Given the description of an element on the screen output the (x, y) to click on. 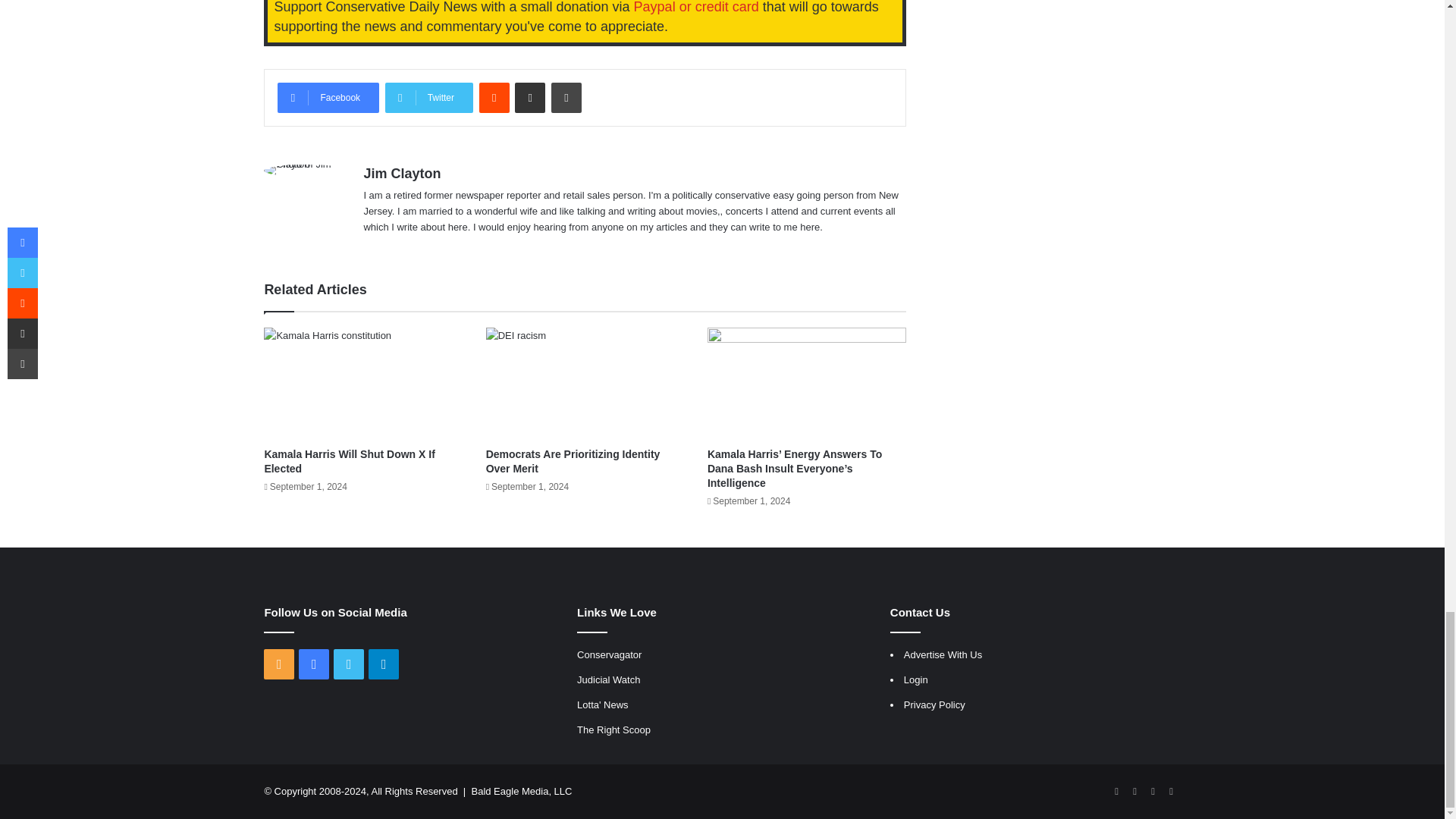
Reddit (494, 97)
Facebook (328, 97)
Twitter (429, 97)
Share via Email (529, 97)
